Given the description of an element on the screen output the (x, y) to click on. 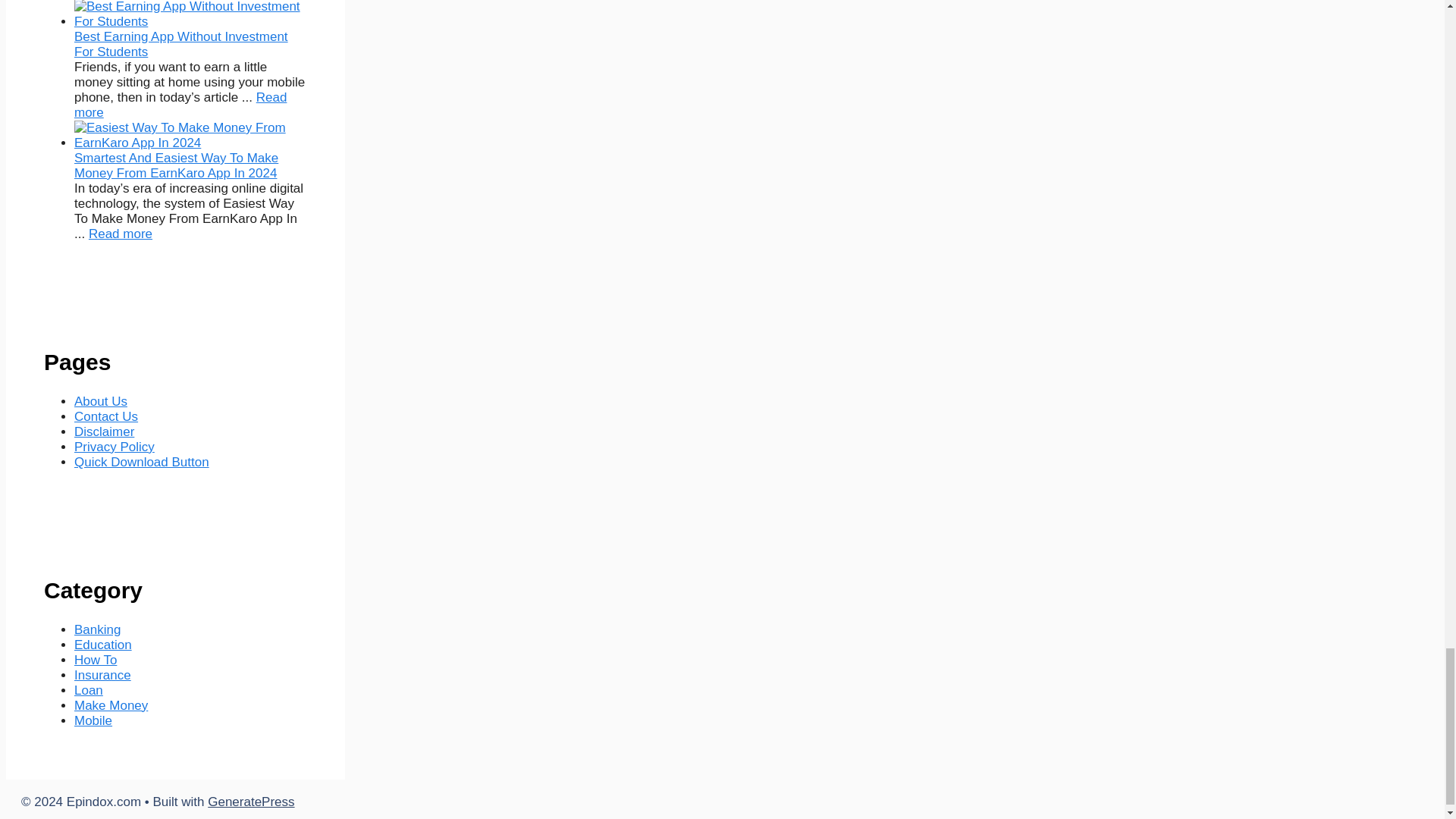
About Us (101, 400)
Read more (120, 233)
Contact Us (106, 416)
Disclaimer (103, 431)
Best Earning App Without Investment For Students (180, 104)
Education (103, 644)
Privacy Policy (114, 446)
Read more (180, 104)
Best Earning App Without Investment For Students (181, 43)
Banking (97, 629)
Quick Download Button (141, 462)
